Given the description of an element on the screen output the (x, y) to click on. 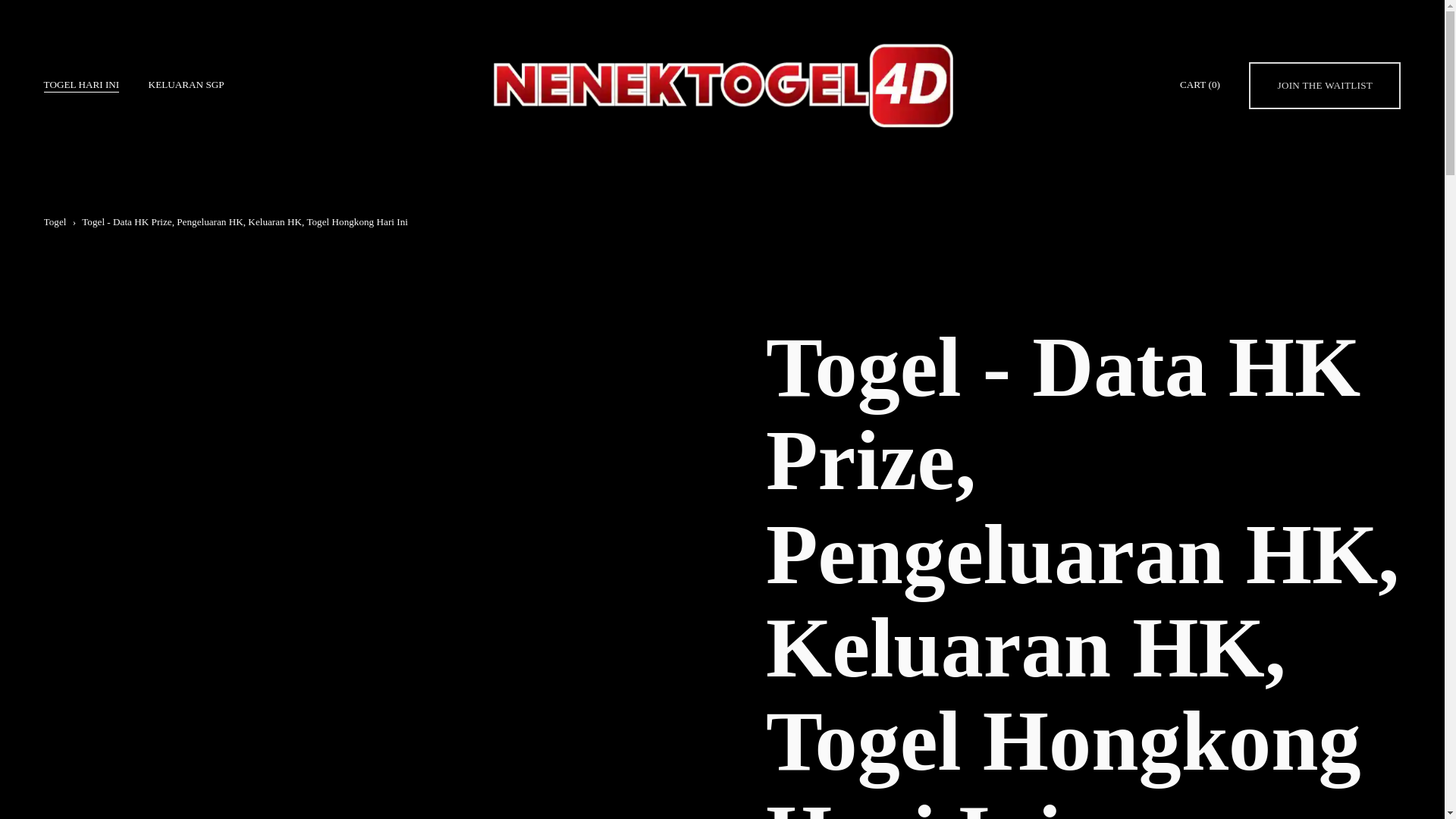
TOGEL HARI INI (81, 84)
Togel (54, 221)
JOIN THE WAITLIST (1324, 85)
KELUARAN SGP (186, 84)
